Given the description of an element on the screen output the (x, y) to click on. 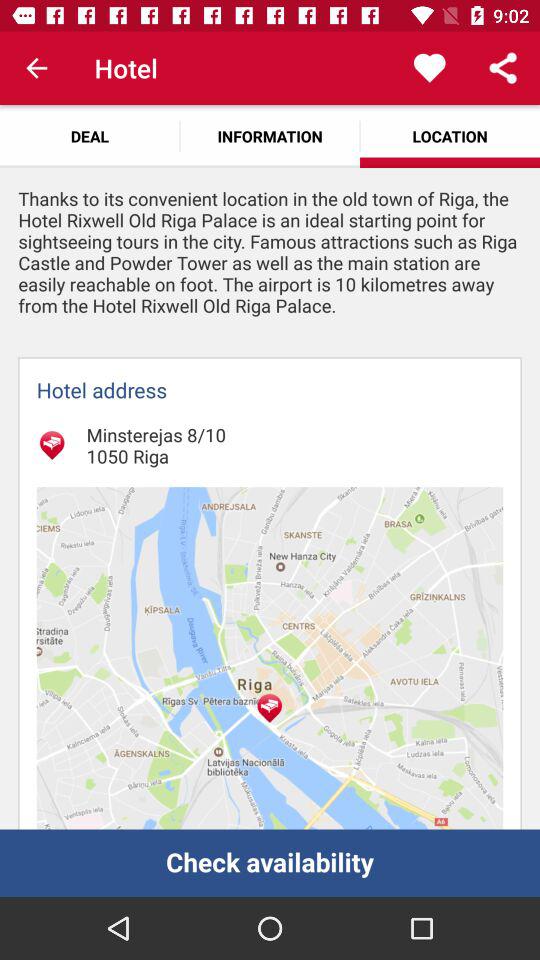
turn on icon to the right of information icon (429, 67)
